Given the description of an element on the screen output the (x, y) to click on. 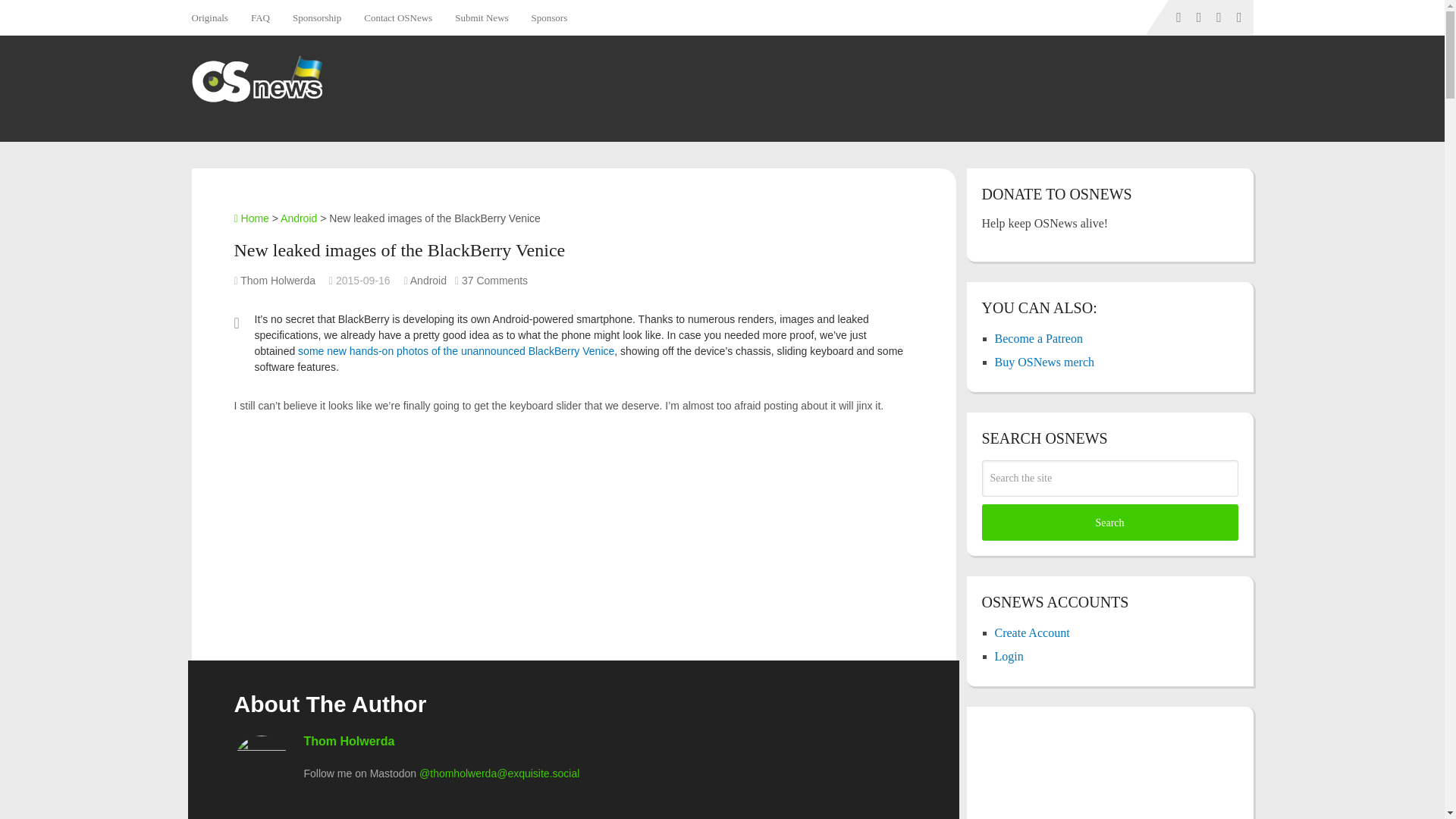
Originals (214, 17)
FAQ (260, 17)
Contact OSNews (398, 17)
37 Comments (494, 280)
Search (1109, 522)
Thom Holwerda (348, 740)
Submit News (481, 17)
Android (299, 218)
 Home (249, 218)
Sponsorship (316, 17)
